Given the description of an element on the screen output the (x, y) to click on. 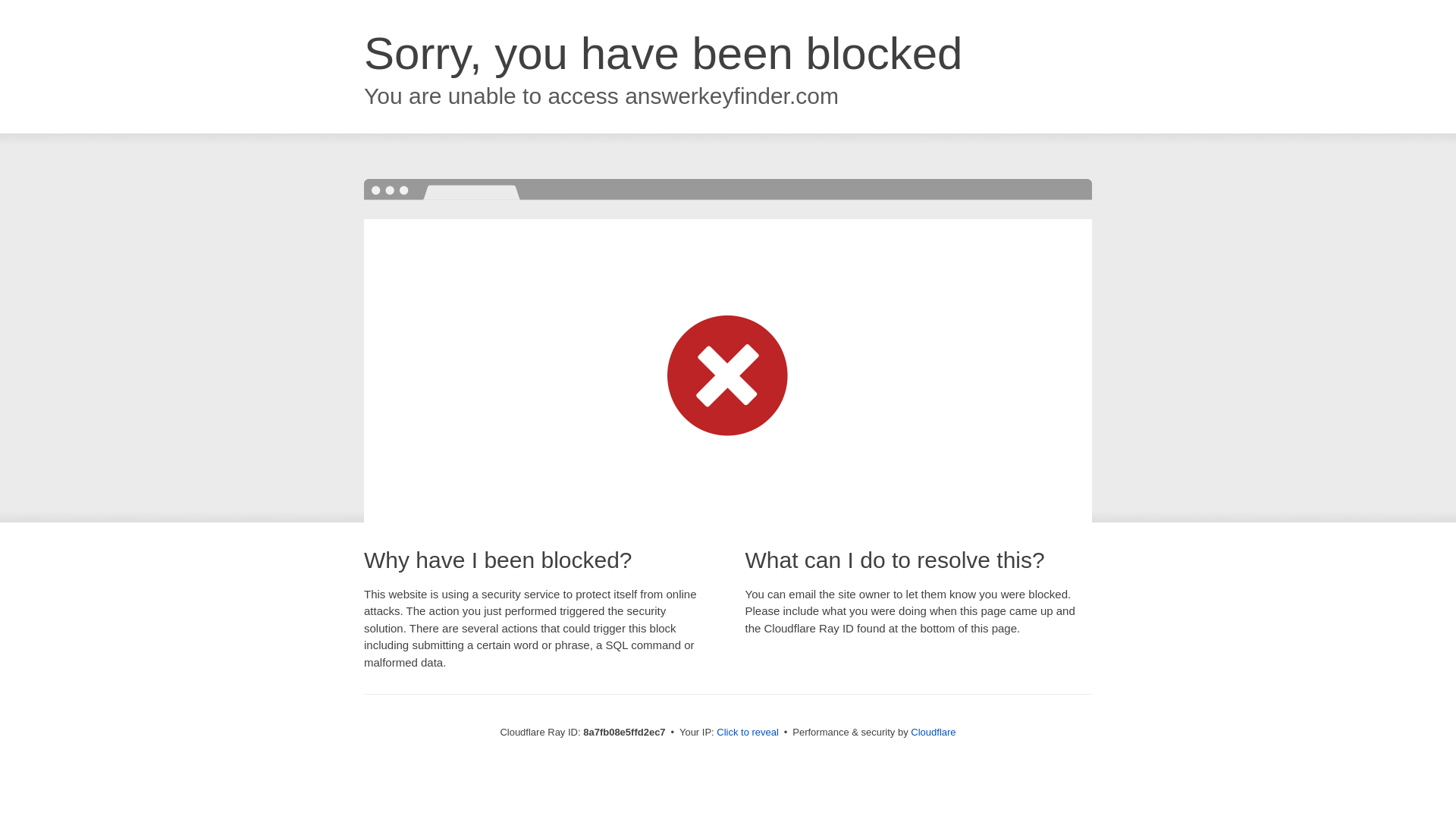
Cloudflare (933, 731)
Click to reveal (747, 732)
